Given the description of an element on the screen output the (x, y) to click on. 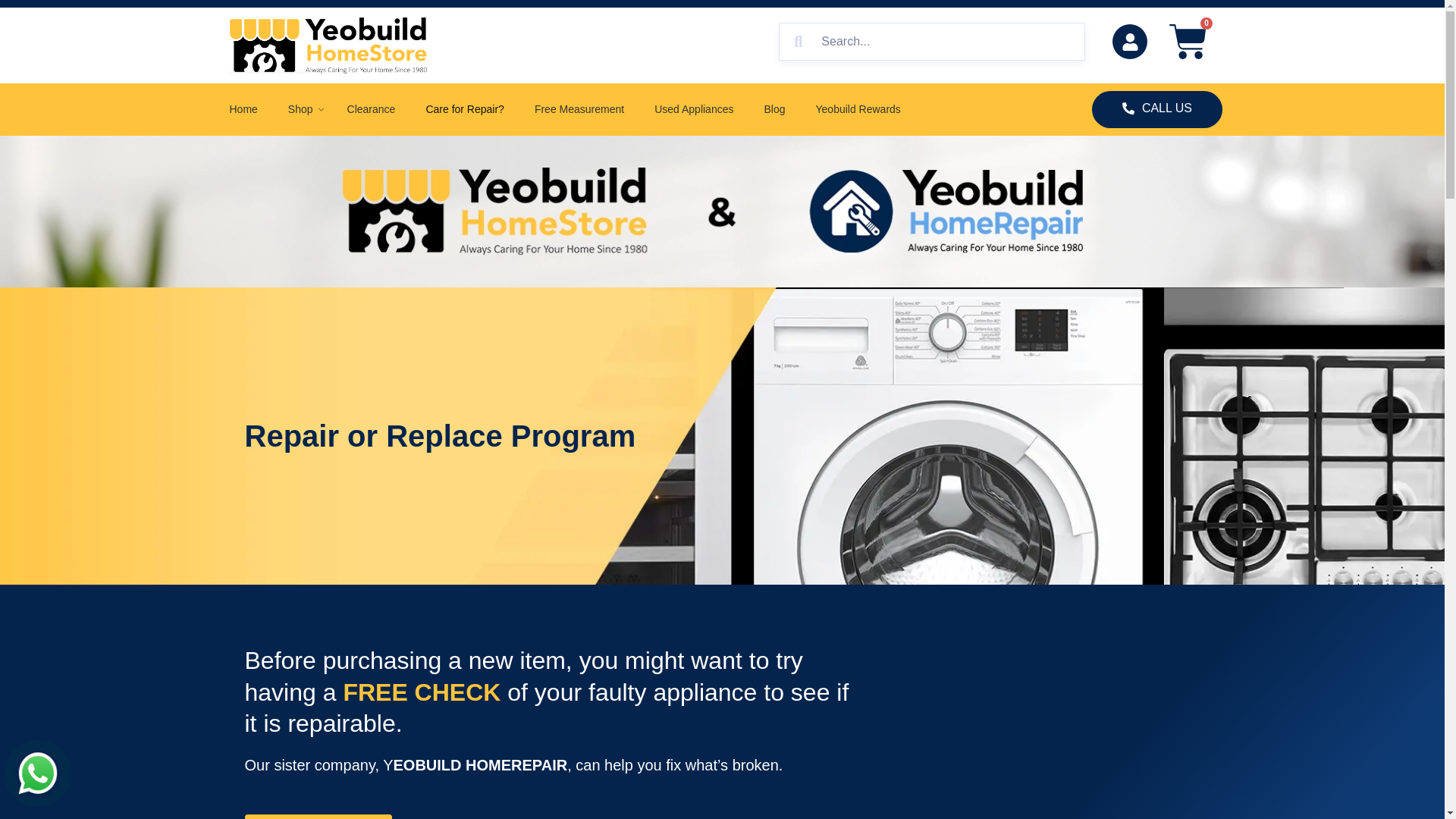
Home (243, 108)
Shop (302, 108)
